Given the description of an element on the screen output the (x, y) to click on. 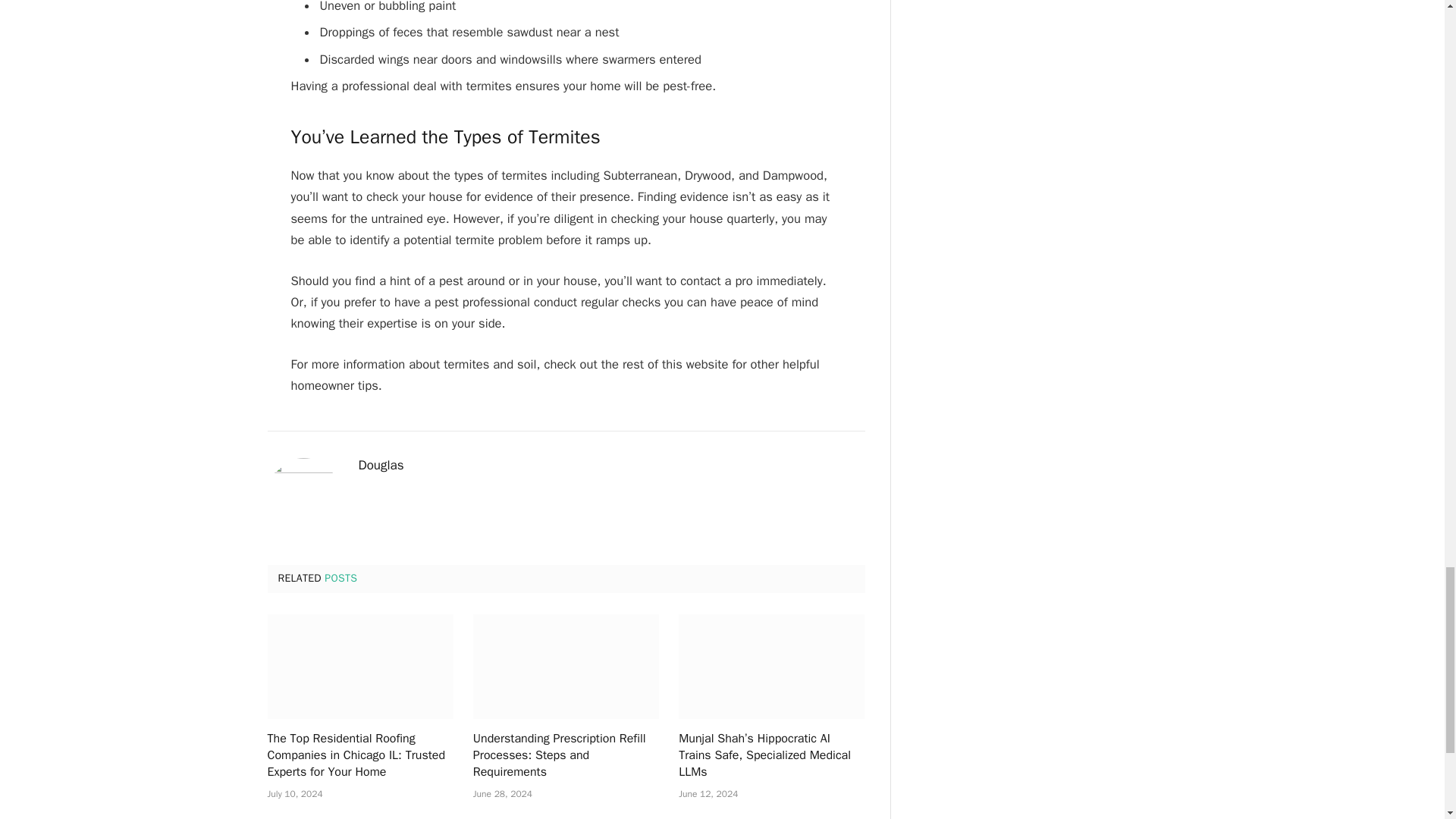
Posts by Douglas (380, 465)
Douglas (380, 465)
